Given the description of an element on the screen output the (x, y) to click on. 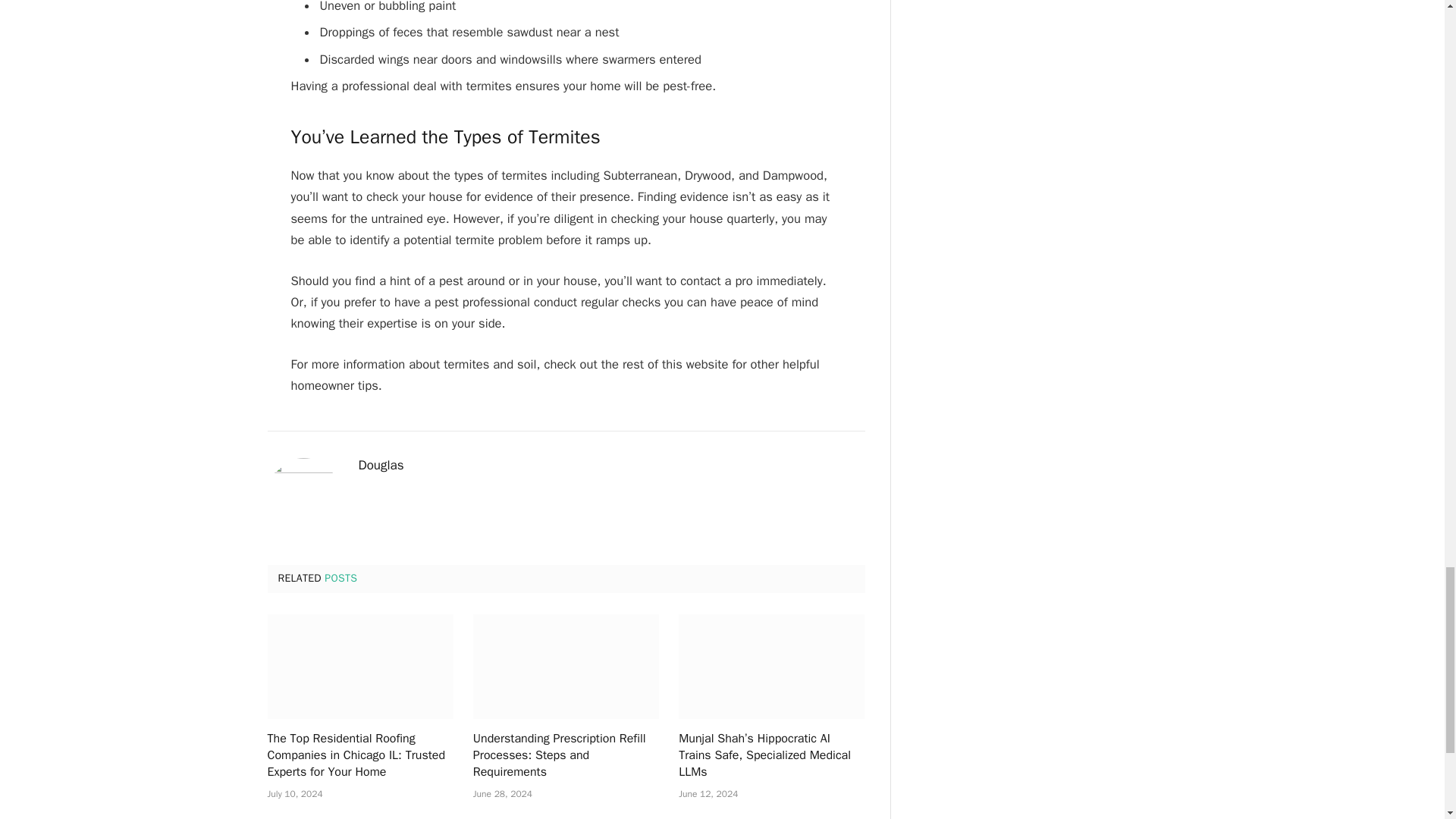
Posts by Douglas (380, 465)
Douglas (380, 465)
